Given the description of an element on the screen output the (x, y) to click on. 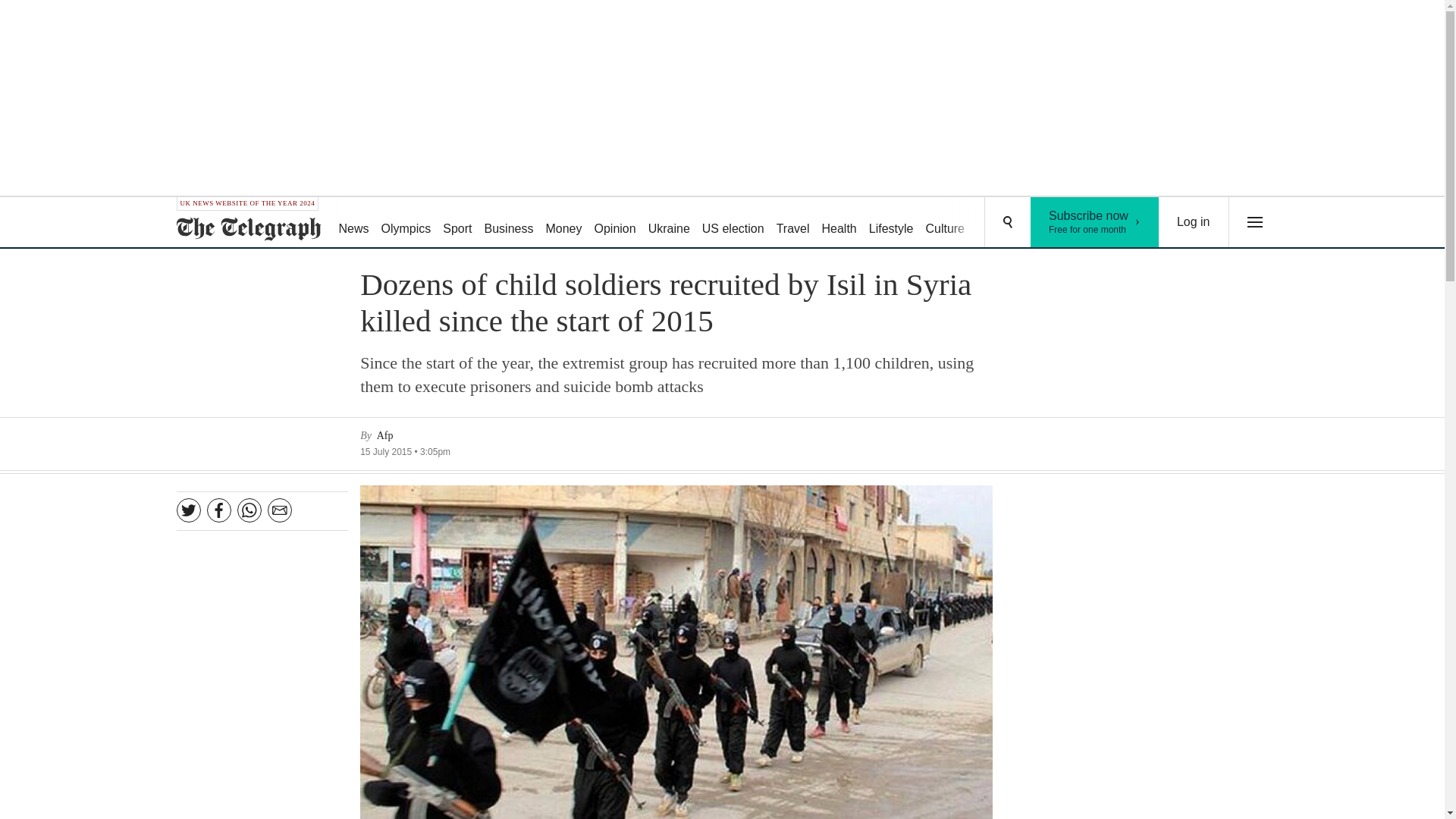
Travel (792, 223)
Money (563, 223)
Culture (944, 223)
Olympics (406, 223)
Opinion (615, 223)
Health (838, 223)
Puzzles (1094, 222)
Podcasts (998, 223)
Business (1056, 223)
